Given the description of an element on the screen output the (x, y) to click on. 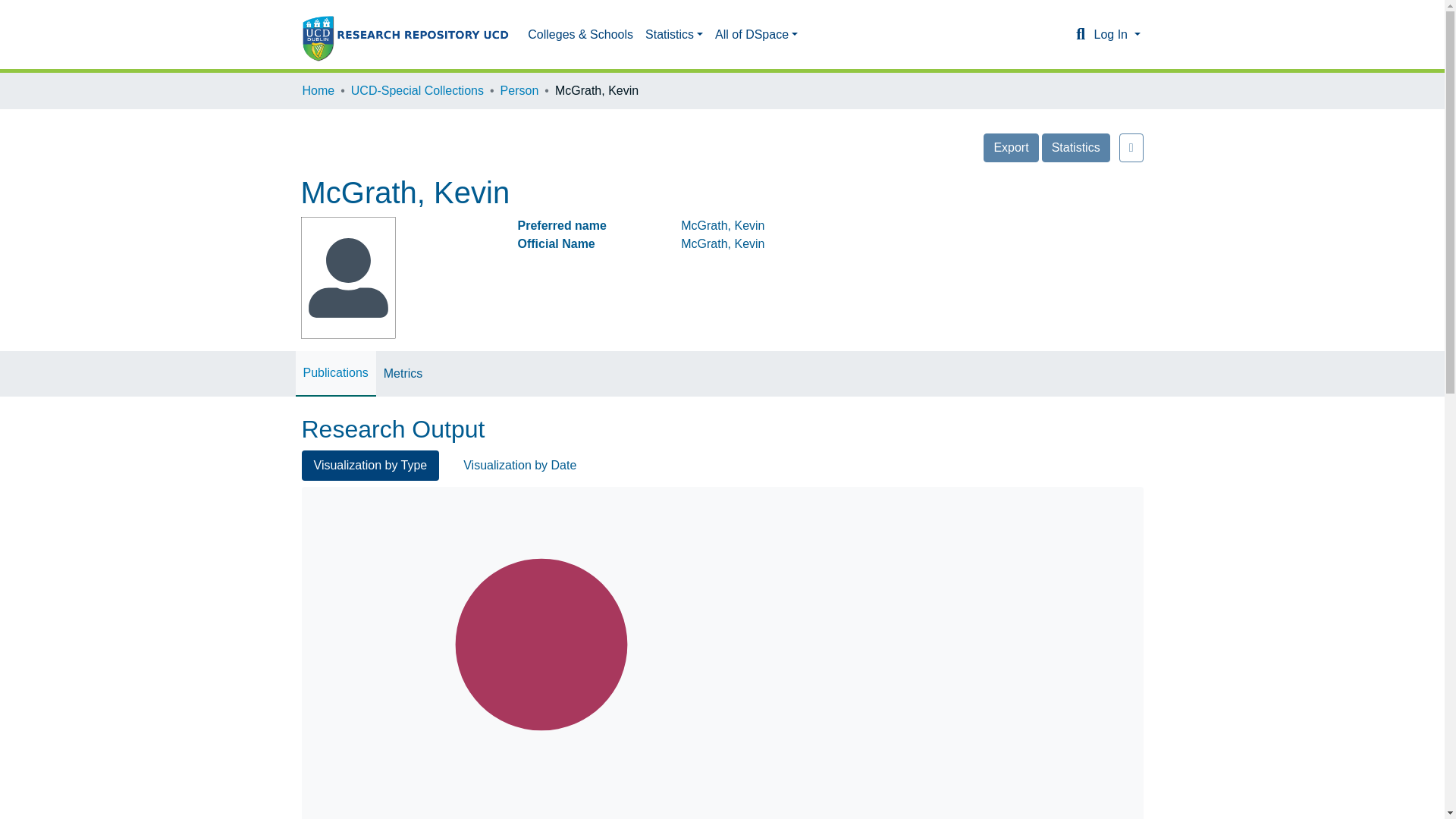
Statistics (674, 34)
Search (1080, 34)
Metrics (402, 373)
Publications (335, 372)
Visualization by Type (370, 465)
All of DSpace (756, 34)
Home (317, 90)
Publications (335, 372)
Export (1011, 147)
Statistics (1075, 147)
Metrics (402, 373)
Log In (1116, 33)
Visualization by Date (519, 465)
Person (519, 90)
UCD-Special Collections (416, 90)
